Given the description of an element on the screen output the (x, y) to click on. 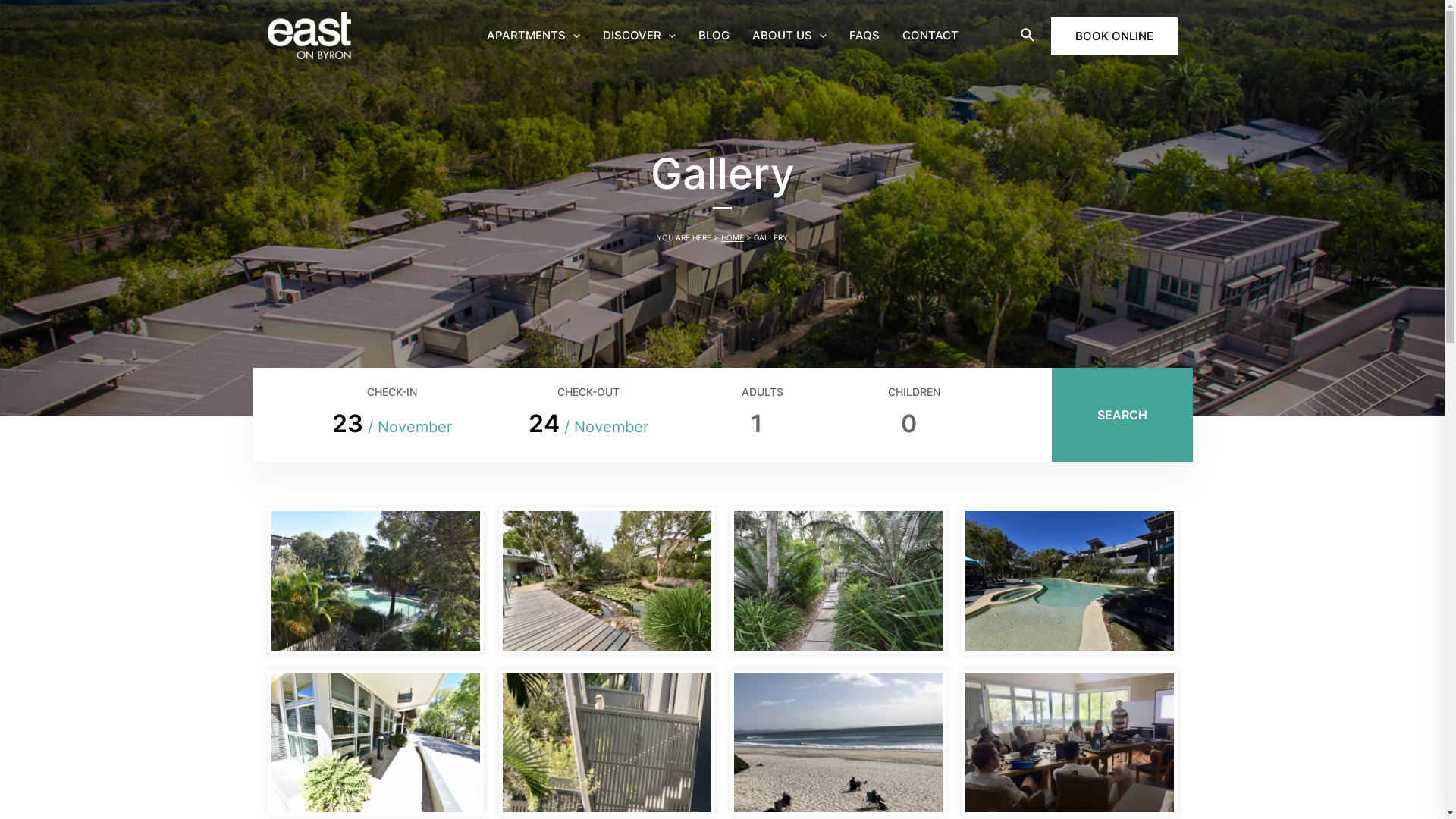
FAQS Element type: text (863, 35)
SEARCH Element type: text (1121, 414)
CONTACT Element type: text (929, 35)
APARTMENTS Element type: text (532, 35)
ABOUT US Element type: text (788, 35)
BOOK ONLINE Element type: text (1114, 34)
BLOG Element type: text (713, 35)
HOME Element type: text (732, 236)
DISCOVER Element type: text (639, 35)
